Given the description of an element on the screen output the (x, y) to click on. 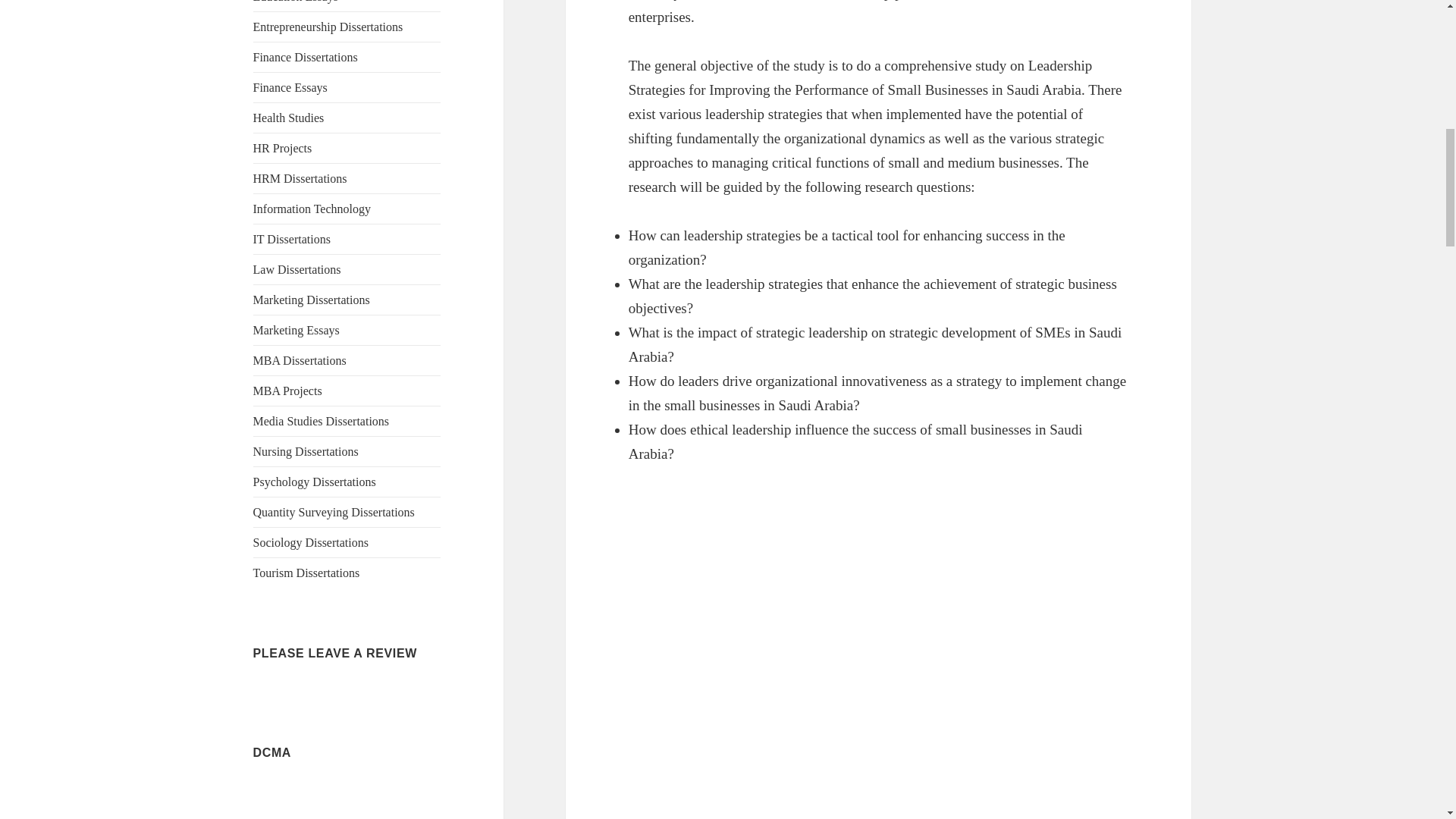
IT Dissertations (291, 238)
Quantity Surveying Dissertations (333, 512)
Sociology Dissertations (310, 542)
Health Studies (288, 117)
Law Dissertations (296, 269)
Nursing Dissertations (305, 451)
HRM Dissertations (300, 178)
Information Technology (312, 208)
Finance Dissertations (305, 56)
Education Essays (295, 1)
